Given the description of an element on the screen output the (x, y) to click on. 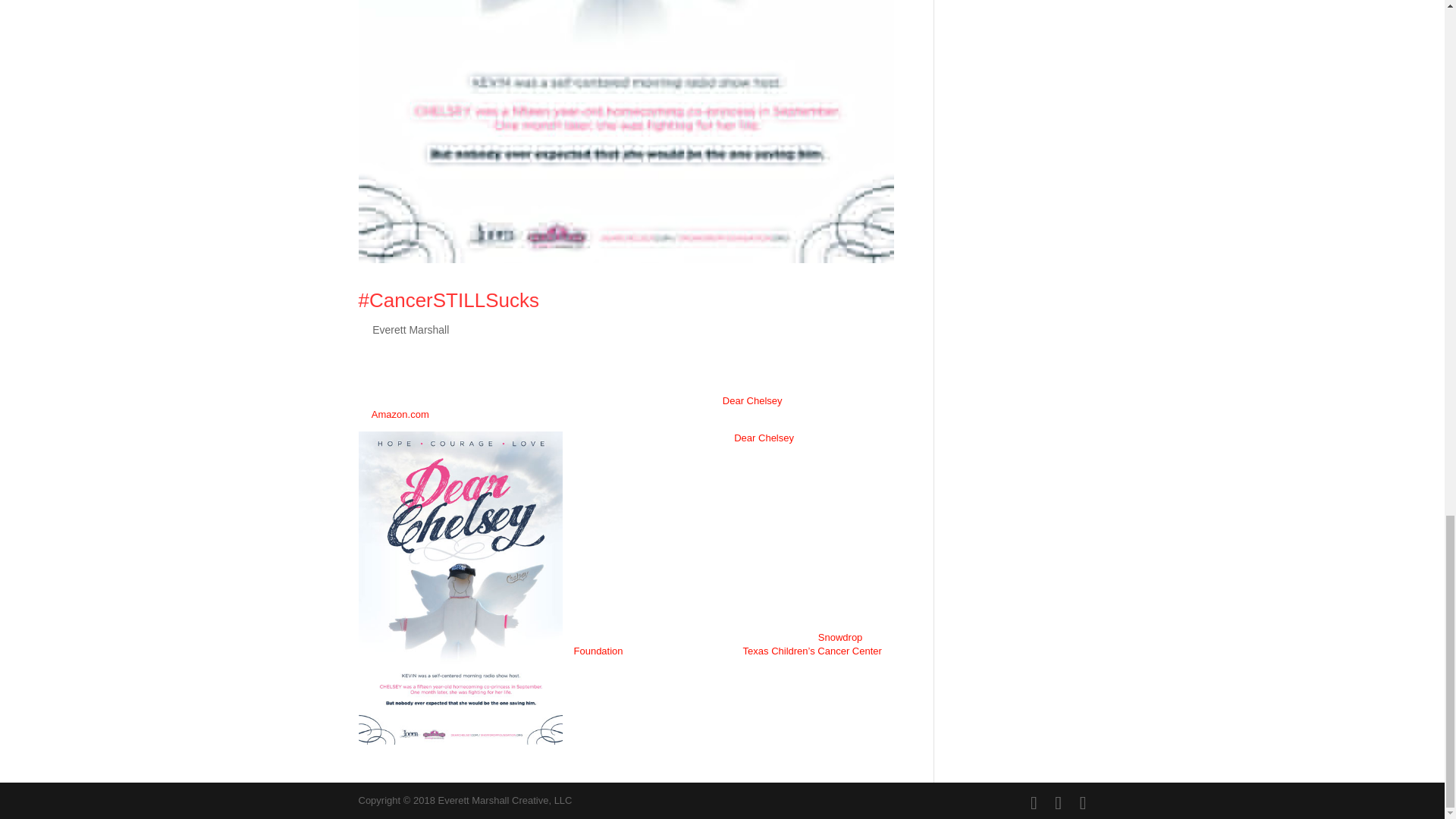
Posts by Everett Marshall (410, 329)
Dear Chelsey (752, 400)
Dear Chelsey (763, 437)
Everett Marshall (410, 329)
Snowdrop Foundation (717, 643)
Amazon.com (400, 414)
